Given the description of an element on the screen output the (x, y) to click on. 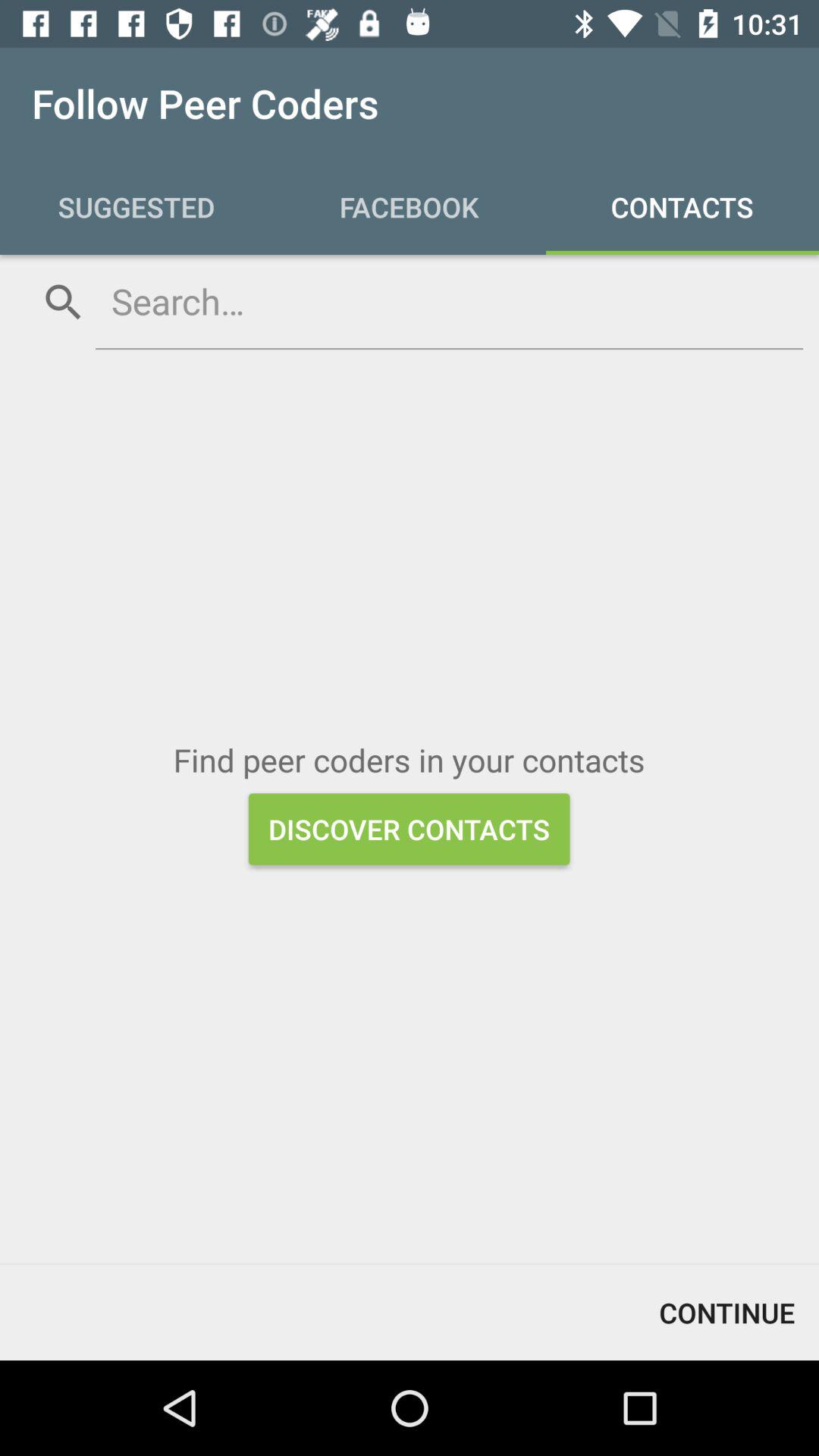
search for peer coders (449, 301)
